Given the description of an element on the screen output the (x, y) to click on. 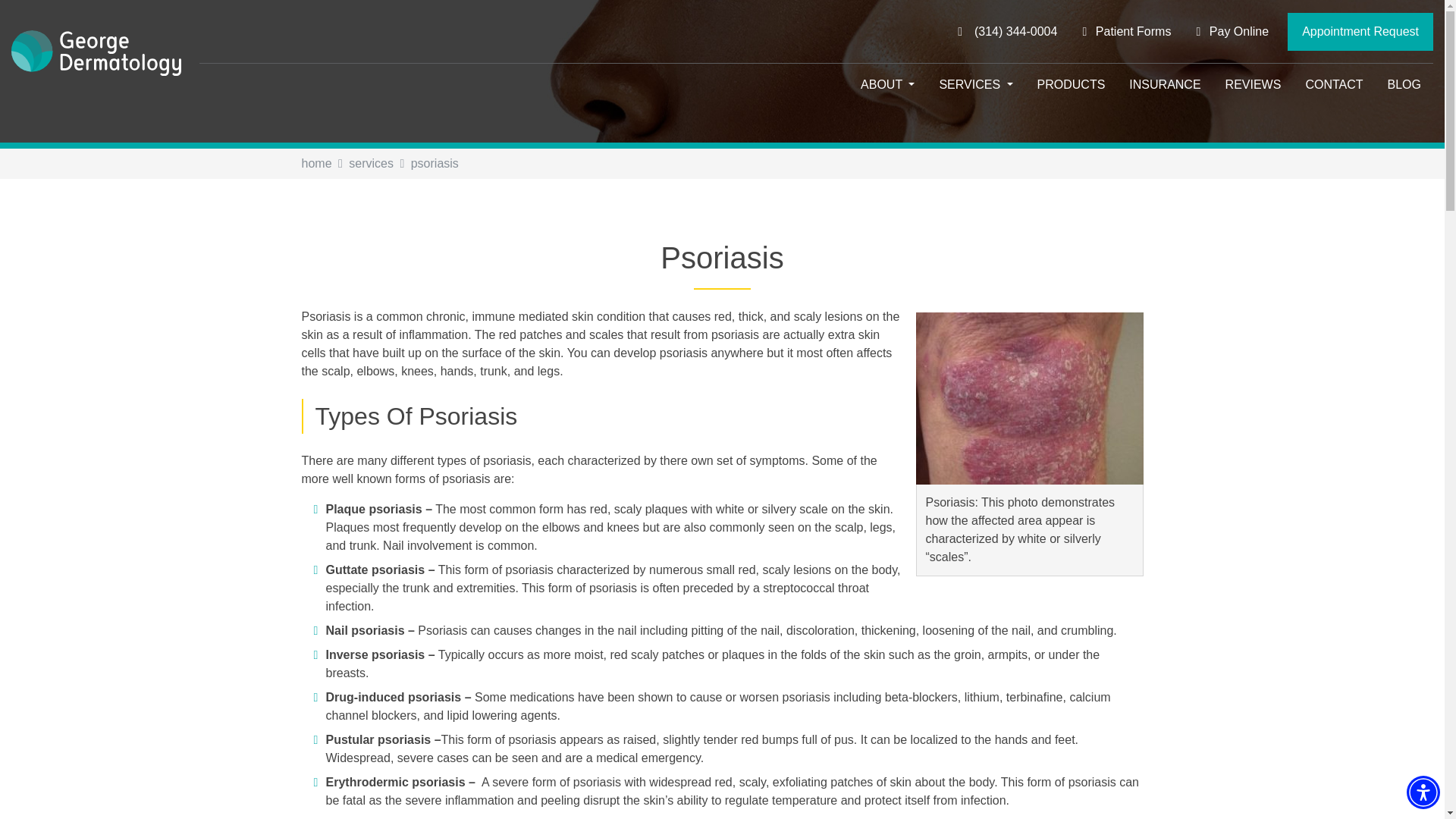
About (887, 84)
INSURANCE (1164, 84)
ABOUT (887, 84)
REVIEWS (1253, 84)
George Dermatology (105, 52)
CONTACT (1333, 84)
home (316, 163)
SERVICES (975, 84)
Accessibility Menu (1422, 792)
BLOG (1403, 84)
